Given the description of an element on the screen output the (x, y) to click on. 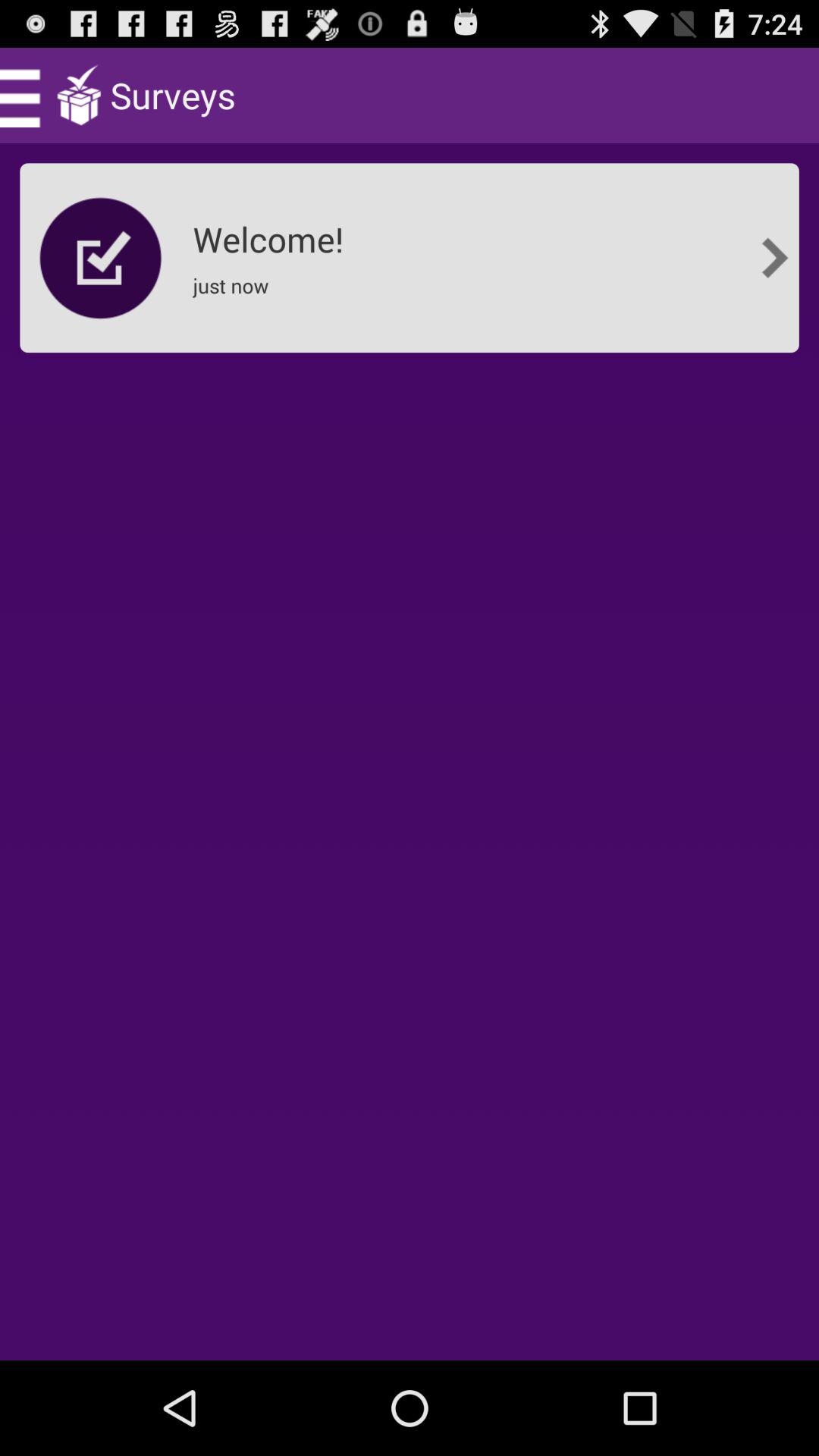
press the icon to the right of the welcome! (774, 257)
